Given the description of an element on the screen output the (x, y) to click on. 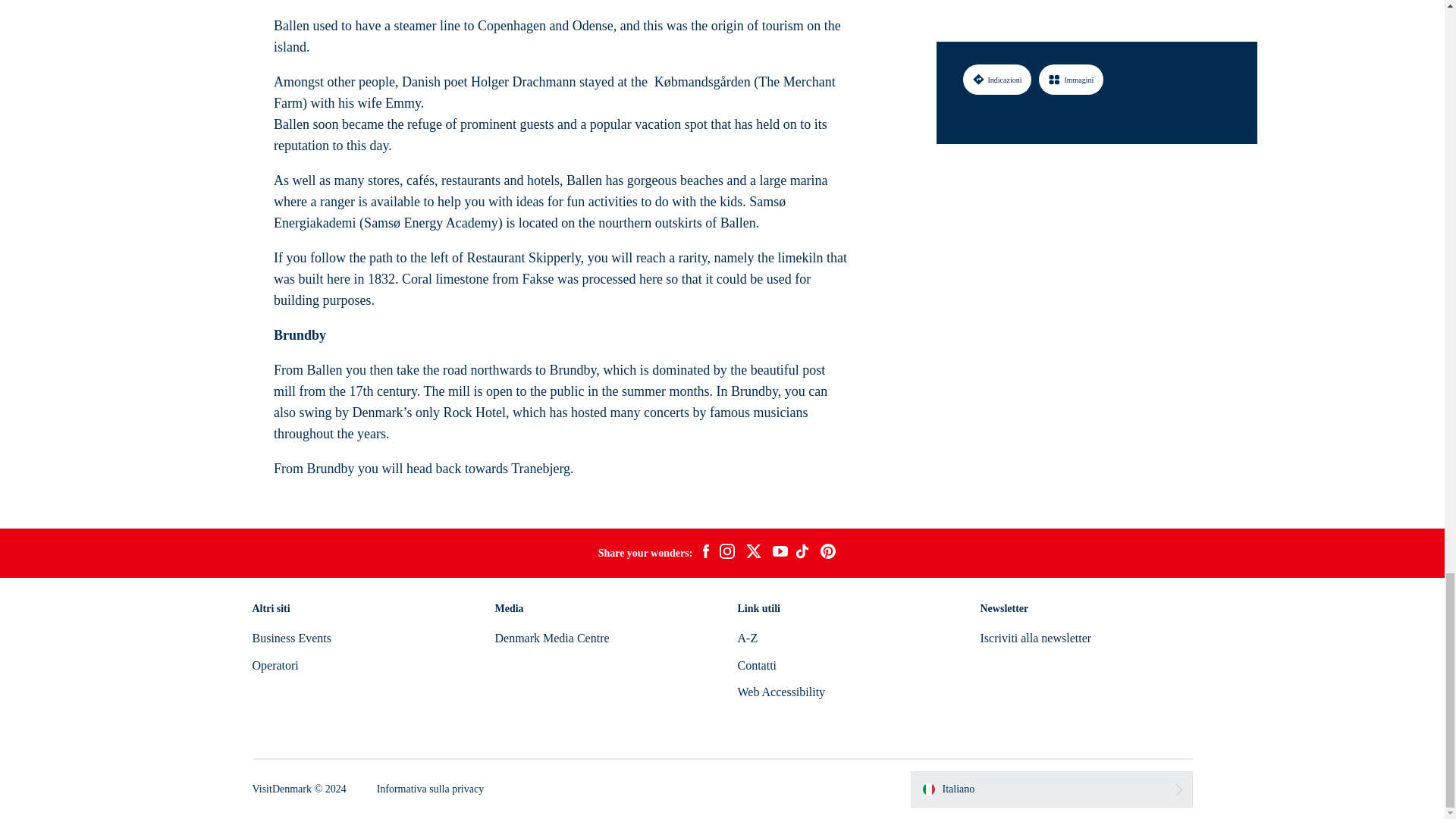
facebook (705, 553)
Business Events (290, 637)
Web Accessibility (780, 691)
Iscriviti alla newsletter (1034, 637)
A-Z (746, 637)
Informativa sulla privacy (430, 789)
youtube (780, 553)
Informativa sulla privacy (430, 789)
tiktok (804, 553)
Business Events (290, 637)
Iscriviti alla newsletter (1034, 637)
instagram (726, 553)
Operatori (274, 665)
Denmark Media Centre (551, 637)
Contatti (756, 665)
